Given the description of an element on the screen output the (x, y) to click on. 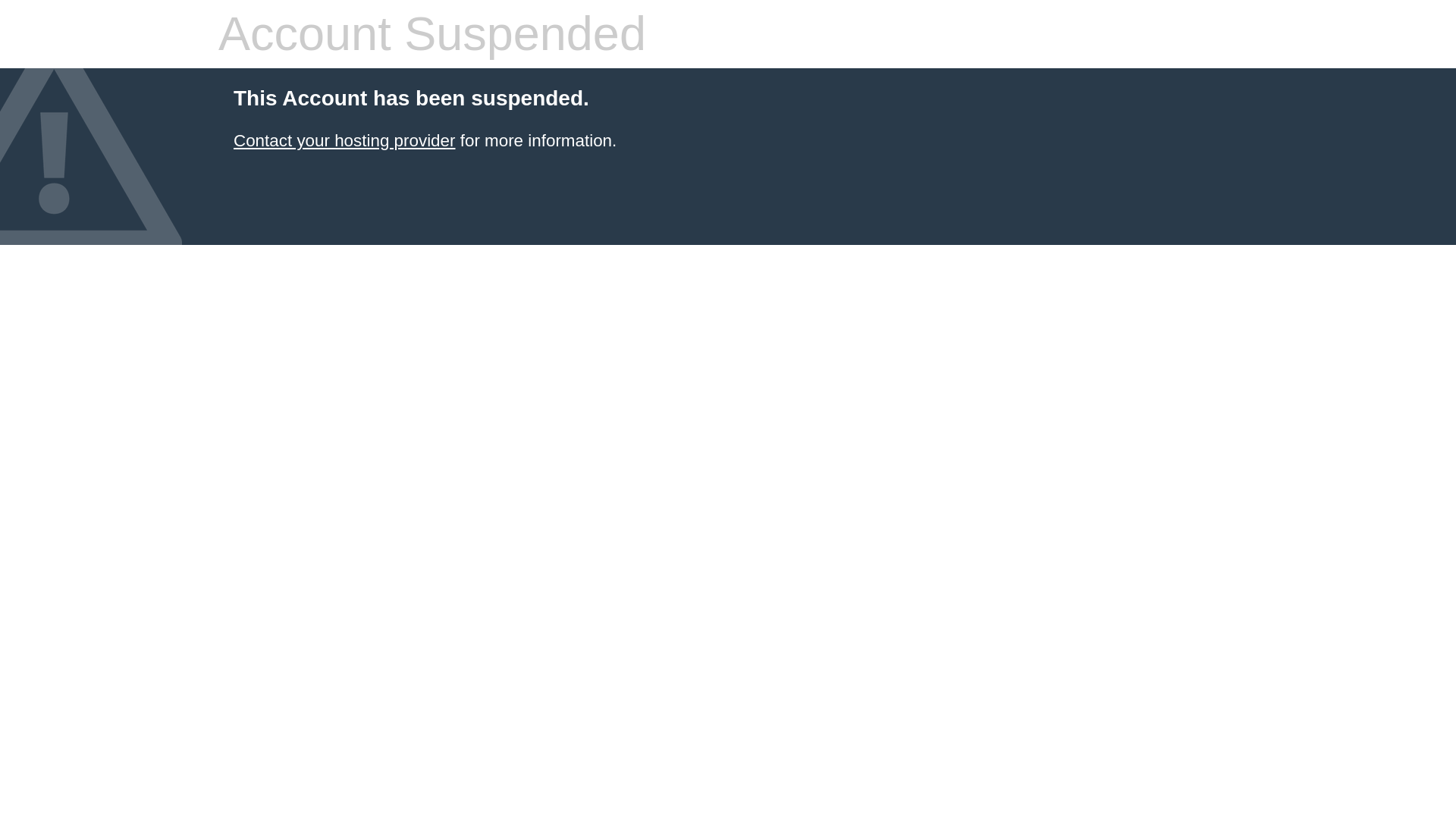
Contact your hosting provider (343, 140)
